Given the description of an element on the screen output the (x, y) to click on. 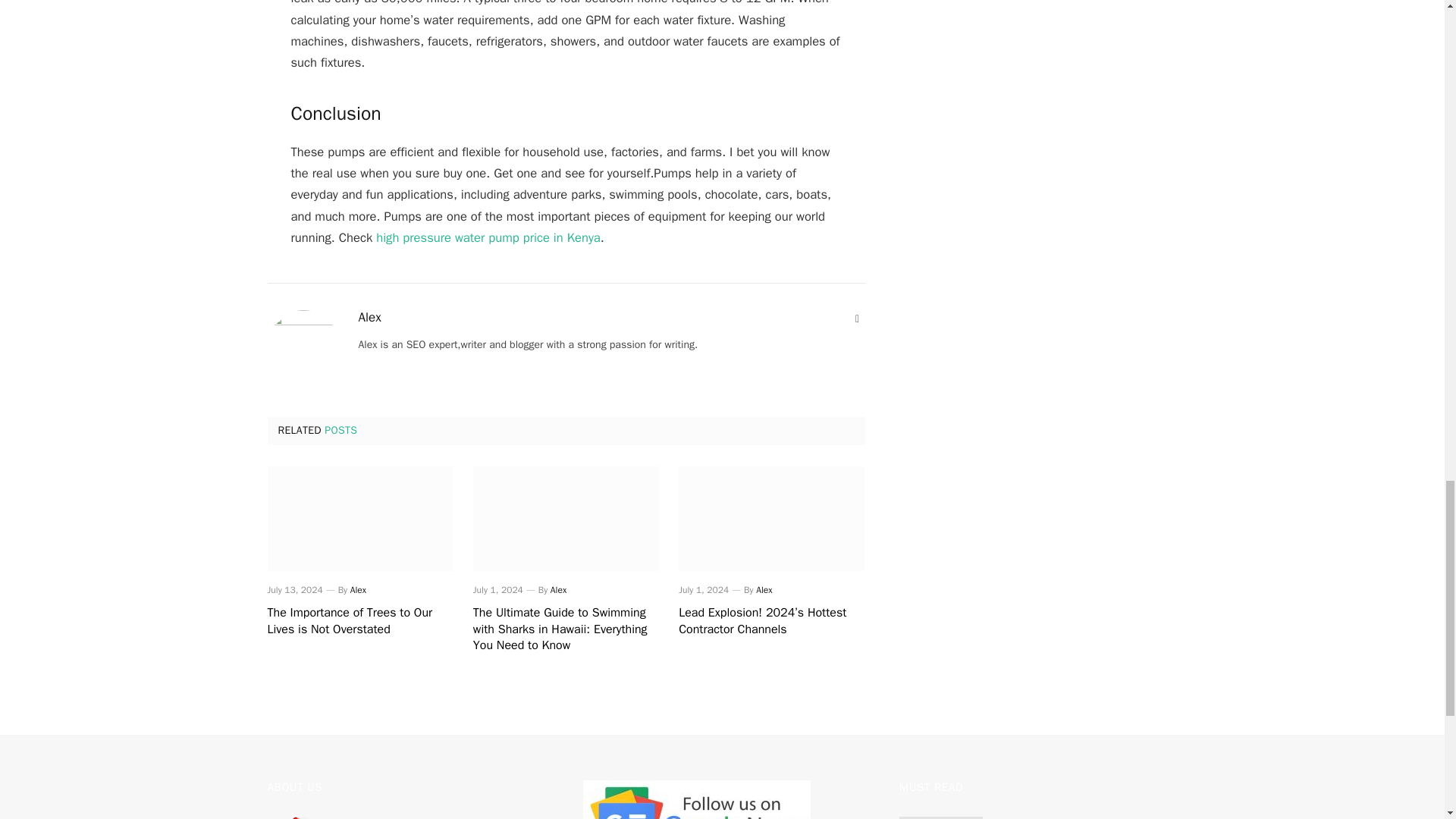
The Importance of Trees to Our Lives is Not Overstated (359, 518)
high pressure water pump price in Kenya (487, 237)
Website (856, 319)
Alex (558, 589)
Posts by Alex (358, 589)
Posts by Alex (369, 317)
Website (856, 319)
The Importance of Trees to Our Lives is Not Overstated (359, 621)
Posts by Alex (558, 589)
Alex (763, 589)
Alex (358, 589)
Alex (369, 317)
